Given the description of an element on the screen output the (x, y) to click on. 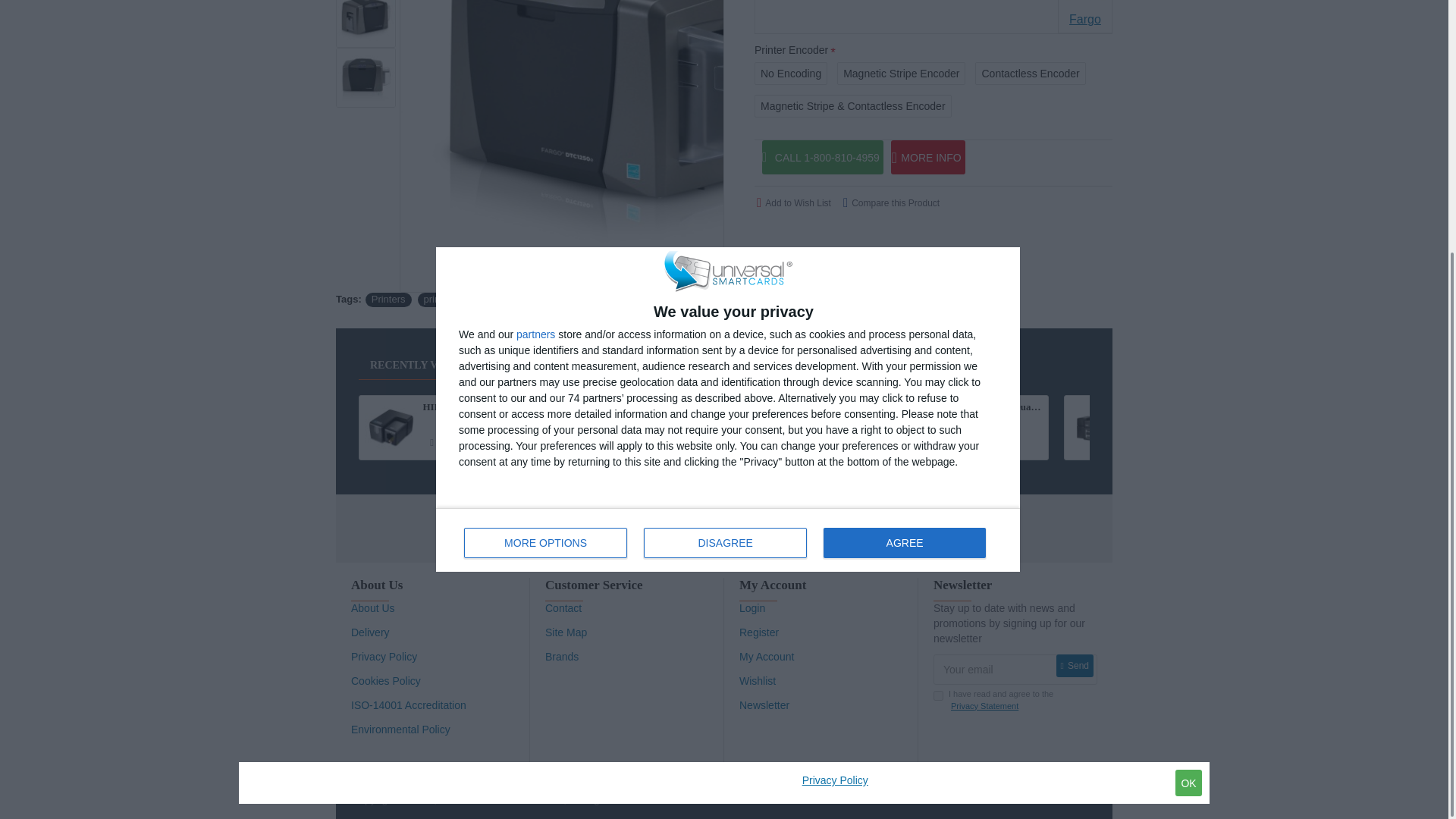
AGREE (904, 182)
MORE OPTIONS (727, 178)
DISAGREE (545, 182)
1 (724, 182)
